Given the description of an element on the screen output the (x, y) to click on. 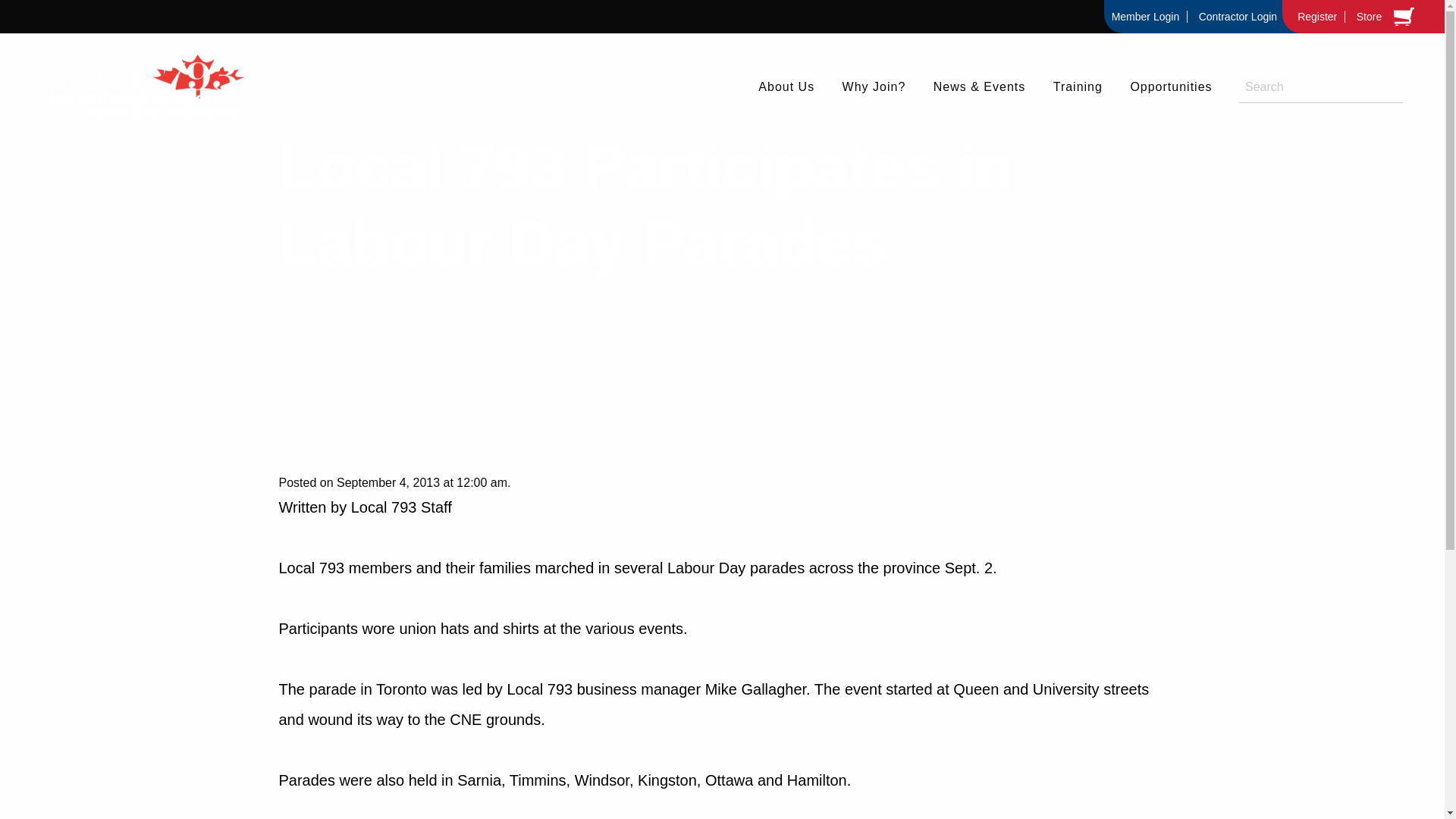
Contractor Login (1238, 16)
Member Login (1145, 16)
Store (1369, 16)
Register (1317, 16)
